Given the description of an element on the screen output the (x, y) to click on. 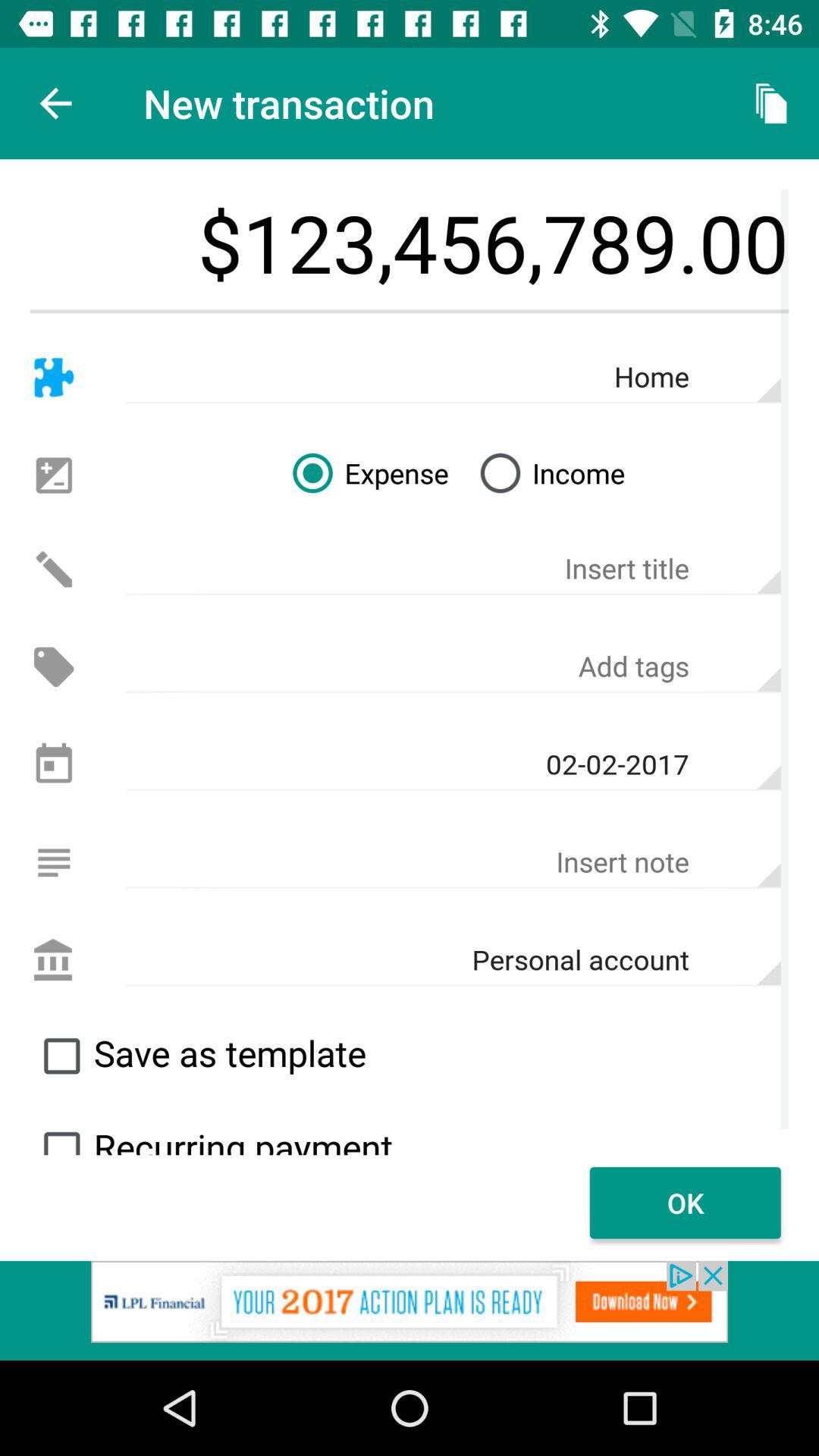
click on checkbox (61, 1056)
